Given the description of an element on the screen output the (x, y) to click on. 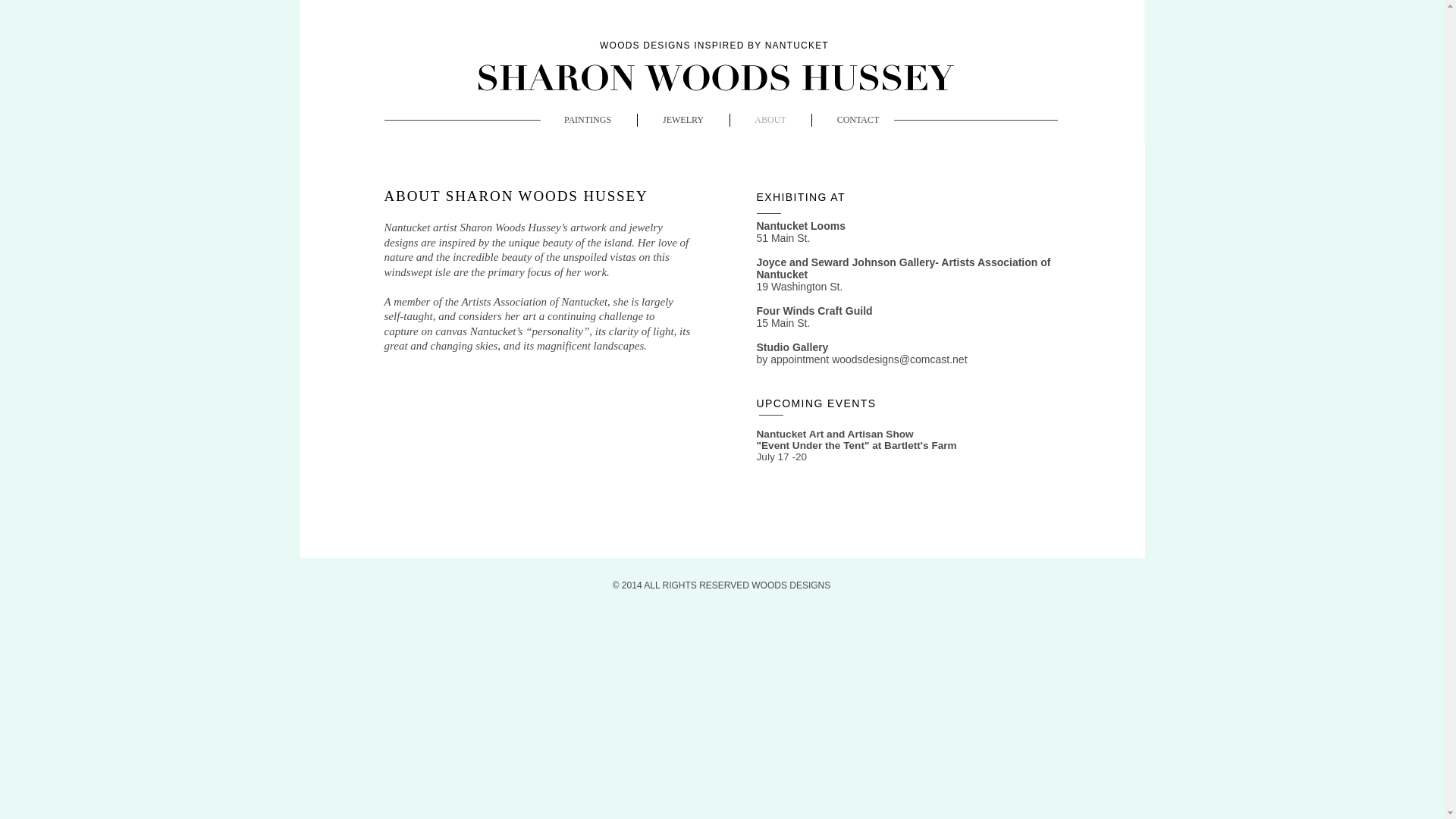
CONTACT (857, 119)
JEWELRY (683, 119)
PAINTINGS (587, 119)
ABOUT (769, 119)
